Given the description of an element on the screen output the (x, y) to click on. 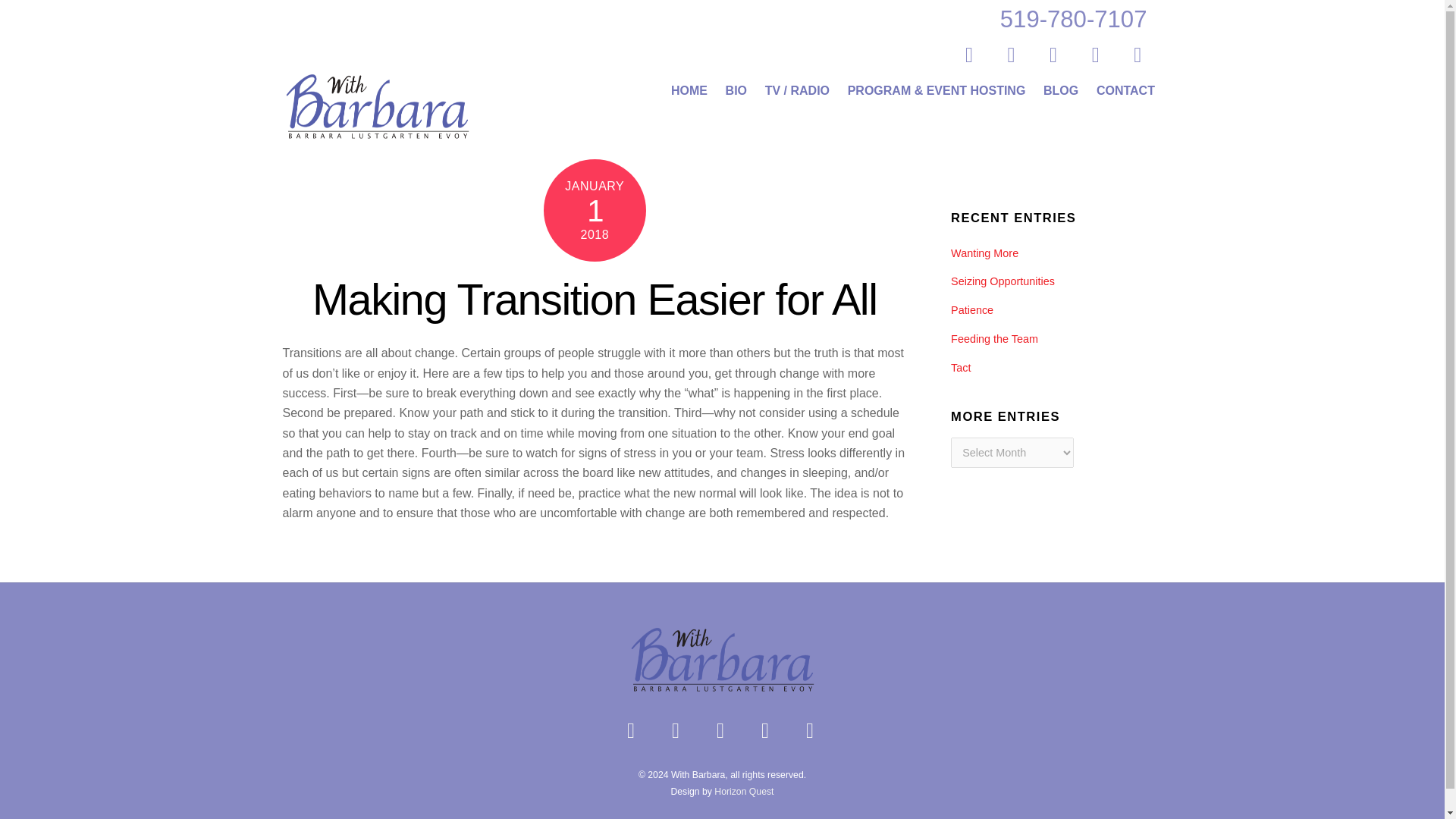
Horizon Quest (743, 791)
With Barbara (721, 659)
Feeding the Team (994, 338)
Patience (971, 309)
Wanting More (983, 253)
With Barbara (376, 105)
With Barbara (376, 135)
HOME (688, 91)
BLOG (1059, 91)
Seizing Opportunities (1002, 281)
BIO (735, 91)
With Barbara (721, 687)
Tact (960, 367)
CONTACT (1125, 91)
